Given the description of an element on the screen output the (x, y) to click on. 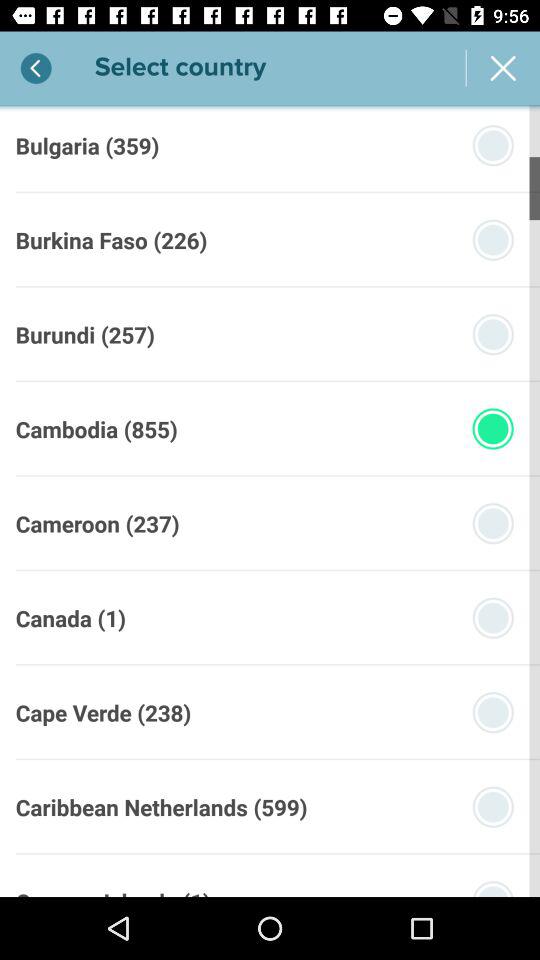
jump until cape verde (238) (103, 712)
